Given the description of an element on the screen output the (x, y) to click on. 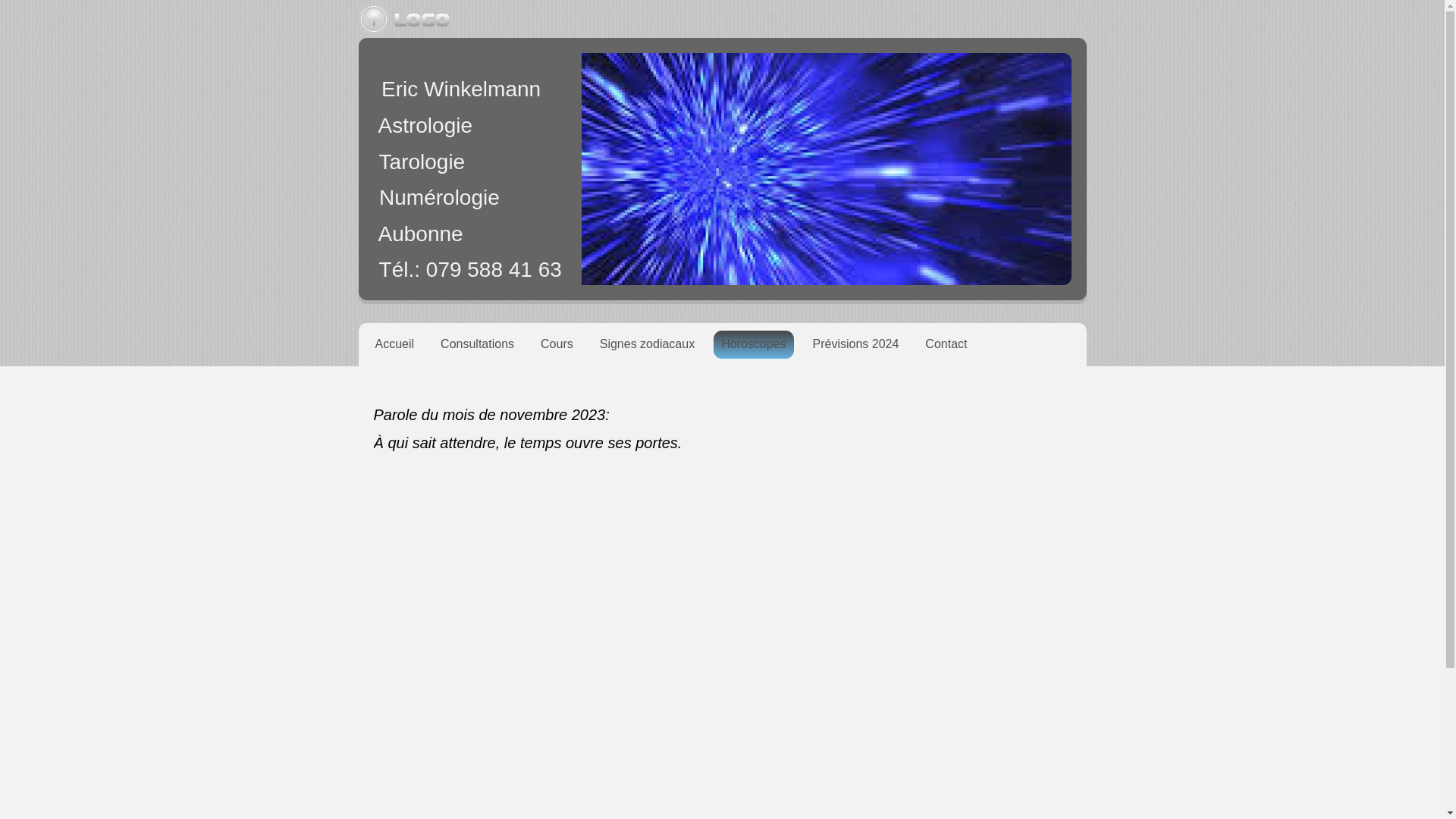
Horoscopes Element type: text (753, 344)
Consultations Element type: text (477, 344)
Accueil Element type: text (394, 344)
Cours Element type: text (556, 344)
Signes zodiacaux Element type: text (647, 344)
Contact Element type: text (945, 344)
